Given the description of an element on the screen output the (x, y) to click on. 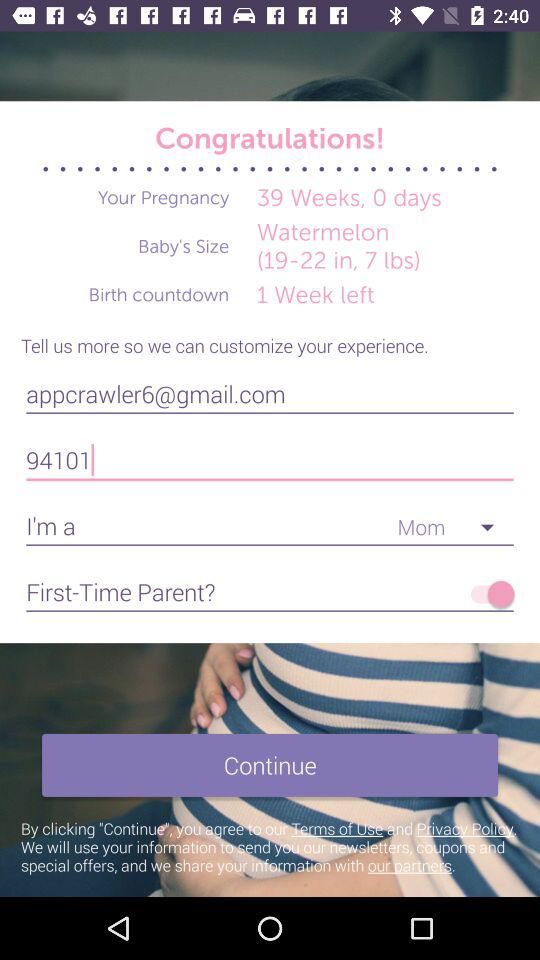
launch the item below tell us more (270, 394)
